Given the description of an element on the screen output the (x, y) to click on. 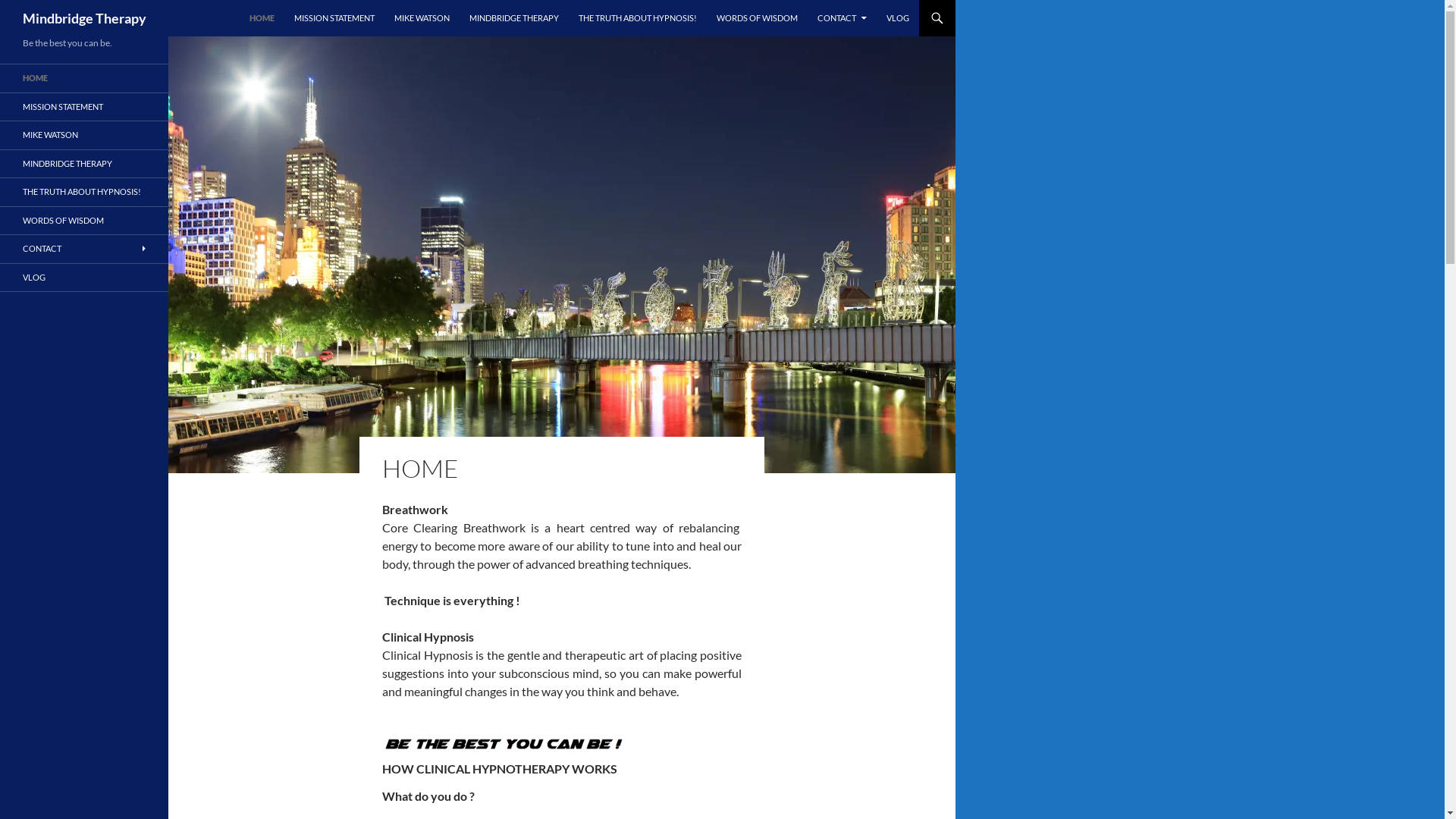
WORDS OF WISDOM Element type: text (756, 18)
CONTACT Element type: text (841, 18)
HOME Element type: text (84, 78)
WORDS OF WISDOM Element type: text (84, 220)
MINDBRIDGE THERAPY Element type: text (84, 164)
CONTACT Element type: text (84, 249)
MISSION STATEMENT Element type: text (334, 18)
MIKE WATSON Element type: text (421, 18)
MINDBRIDGE THERAPY Element type: text (513, 18)
THE TRUTH ABOUT HYPNOSIS! Element type: text (637, 18)
MISSION STATEMENT Element type: text (84, 106)
HOME Element type: text (261, 18)
Mindbridge Therapy Element type: text (84, 18)
MIKE WATSON Element type: text (84, 135)
VLOG Element type: text (897, 18)
THE TRUTH ABOUT HYPNOSIS! Element type: text (84, 192)
VLOG Element type: text (84, 277)
